Given the description of an element on the screen output the (x, y) to click on. 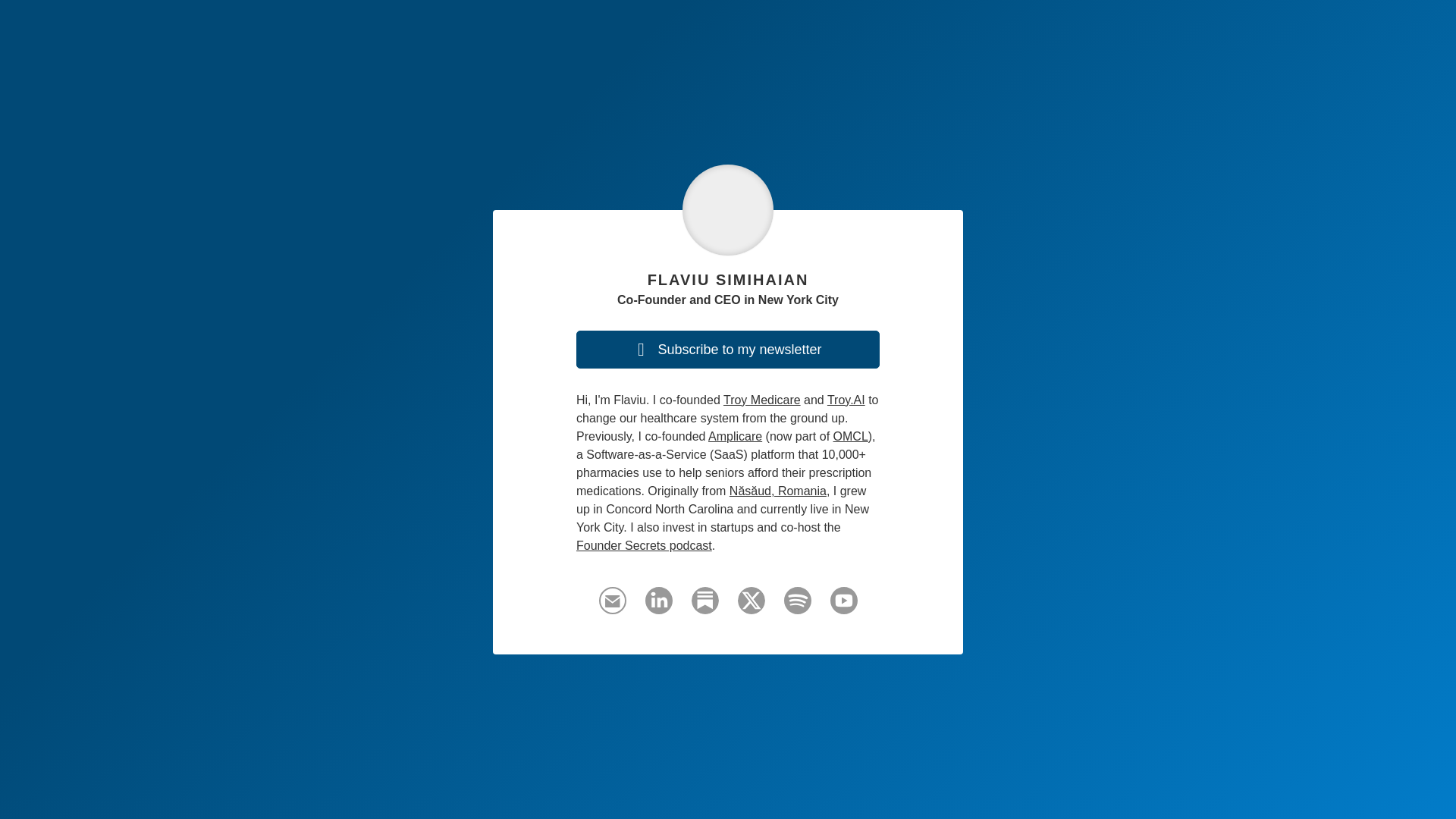
Troy Medicare (761, 399)
Subscribe to my newsletter (727, 349)
Send me a message (612, 600)
OMCL (849, 436)
Founder Secrets podcast (643, 545)
Visit me on YouTube (843, 606)
Visit me on Spotify (797, 606)
Troy.AI (845, 399)
Visit me on Twitter (750, 606)
Visit me on LinkedIn (658, 606)
